Given the description of an element on the screen output the (x, y) to click on. 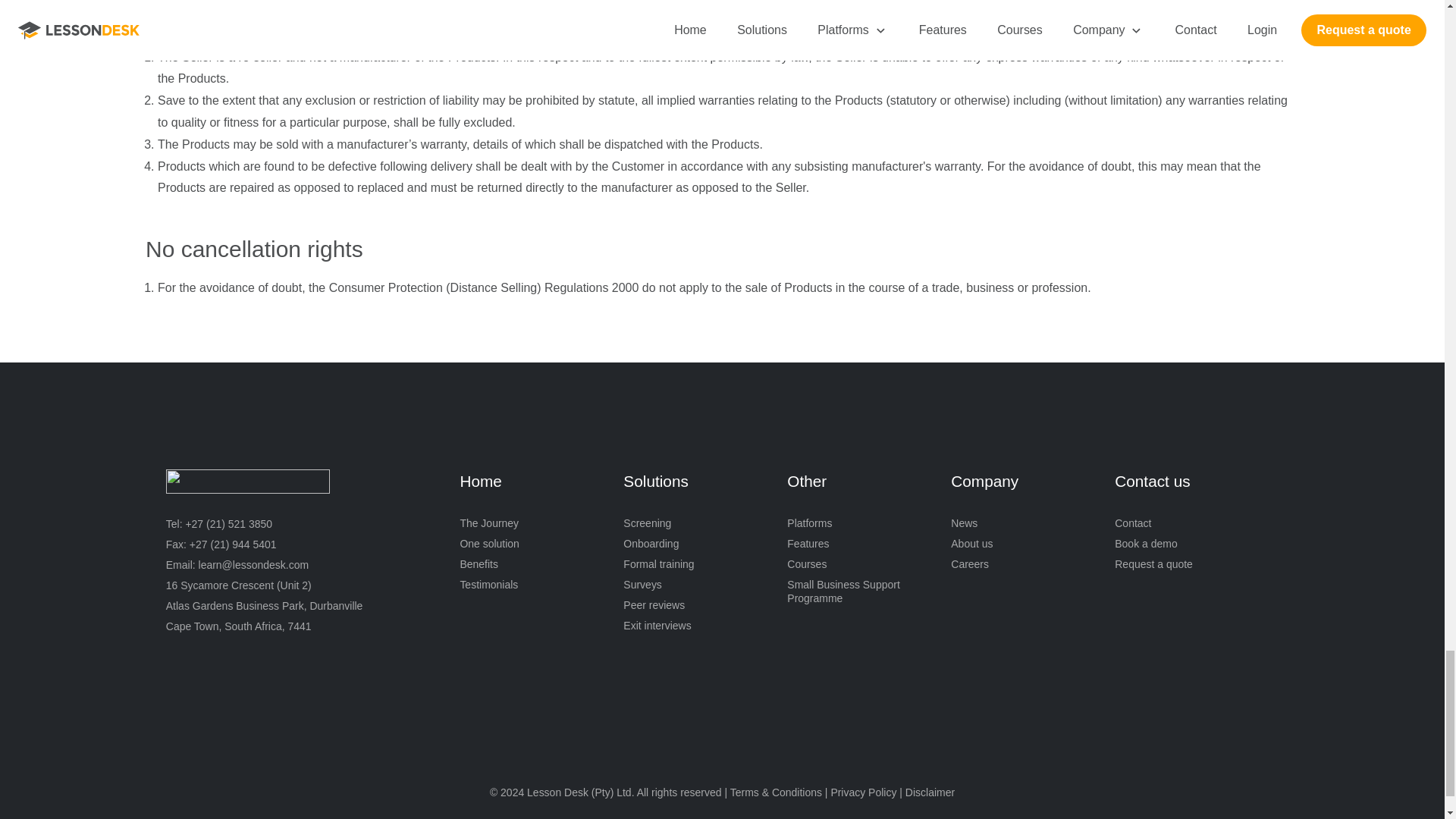
Onboarding (650, 544)
One solution (489, 544)
Platforms (809, 523)
Benefits (478, 564)
Screening (647, 523)
Surveys (642, 585)
The Journey (489, 523)
Testimonials (489, 585)
Formal training (658, 564)
Small Business Support Programme (847, 591)
Courses (807, 564)
Exit interviews (656, 626)
Peer reviews (653, 605)
Features (807, 544)
